Given the description of an element on the screen output the (x, y) to click on. 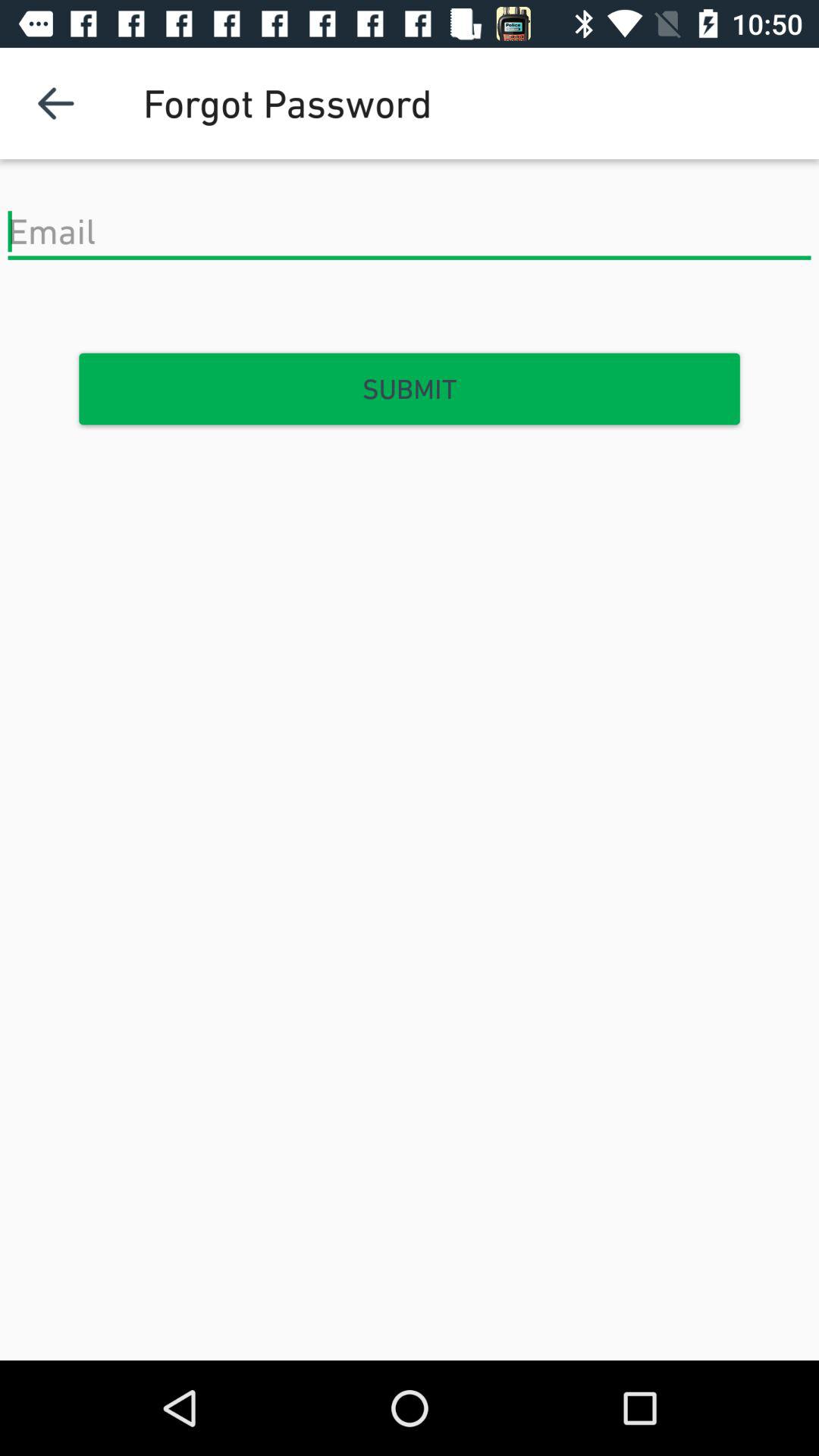
choose the item at the top left corner (55, 103)
